Given the description of an element on the screen output the (x, y) to click on. 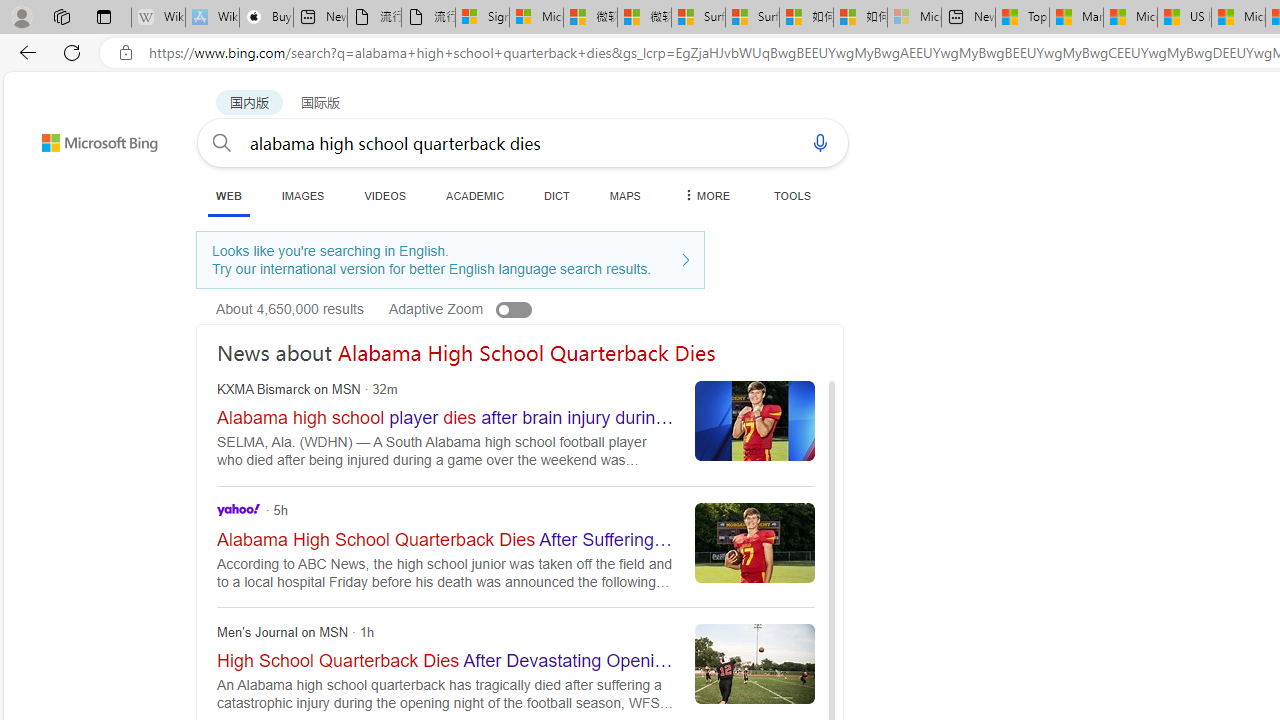
DICT (557, 195)
Buy iPad - Apple (266, 17)
ACADEMIC (475, 195)
Marine life - MSN (1076, 17)
Adaptive Zoom (480, 308)
WEB (228, 195)
DICT (557, 195)
TOOLS (792, 195)
